Given the description of an element on the screen output the (x, y) to click on. 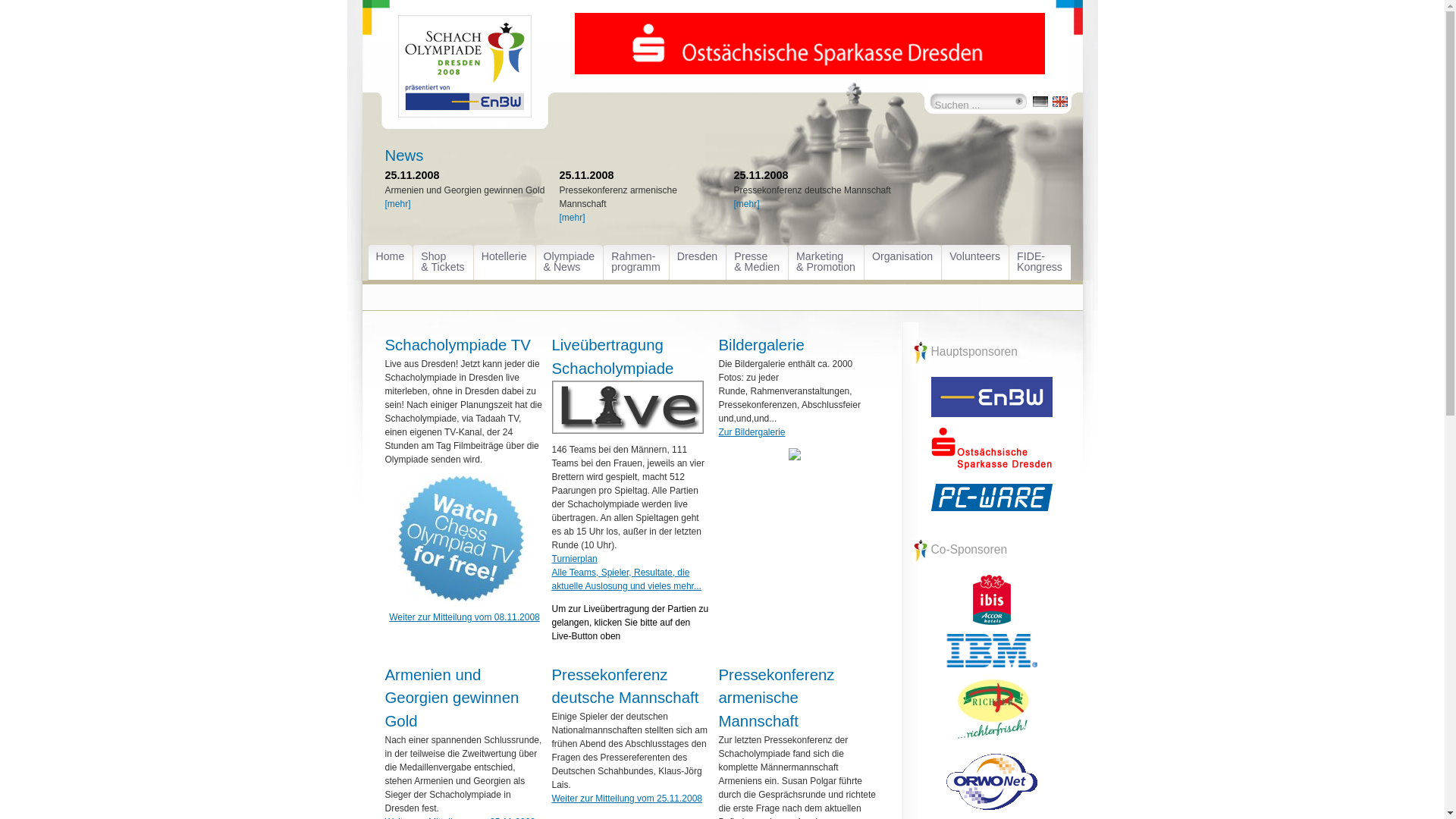
Weiter zur Mitteilung vom 25.11.2008 Element type: text (627, 798)
Volunteers Element type: text (975, 261)
[mehr] Element type: text (572, 217)
FIDE-
Kongress Element type: text (1040, 261)
[mehr] Element type: text (746, 203)
Dresden Element type: text (698, 261)
Marketing
& Promotion Element type: text (826, 261)
Home Element type: text (391, 261)
Shop
& Tickets Element type: text (443, 261)
Olympiade
& News Element type: text (570, 261)
PC-Ware Information Technologies AG Element type: hover (990, 497)
Zur Bildergalerie Element type: text (751, 431)
Presse
& Medien Element type: text (757, 261)
Organisation Element type: text (903, 261)
Rahmen-
programm Element type: text (636, 261)
IBM Element type: hover (990, 650)
Schach Olympiade Dresden 2008 Element type: text (464, 76)
Weiter zur Mitteilung vom 08.11.2008 Element type: text (464, 616)
Turnierplan Element type: text (574, 558)
Fleischerei Richter Element type: hover (990, 710)
IBIS Element type: hover (990, 599)
ORWO Net Element type: hover (990, 781)
[mehr] Element type: text (398, 203)
Hotellerie Element type: text (505, 261)
